Given the description of an element on the screen output the (x, y) to click on. 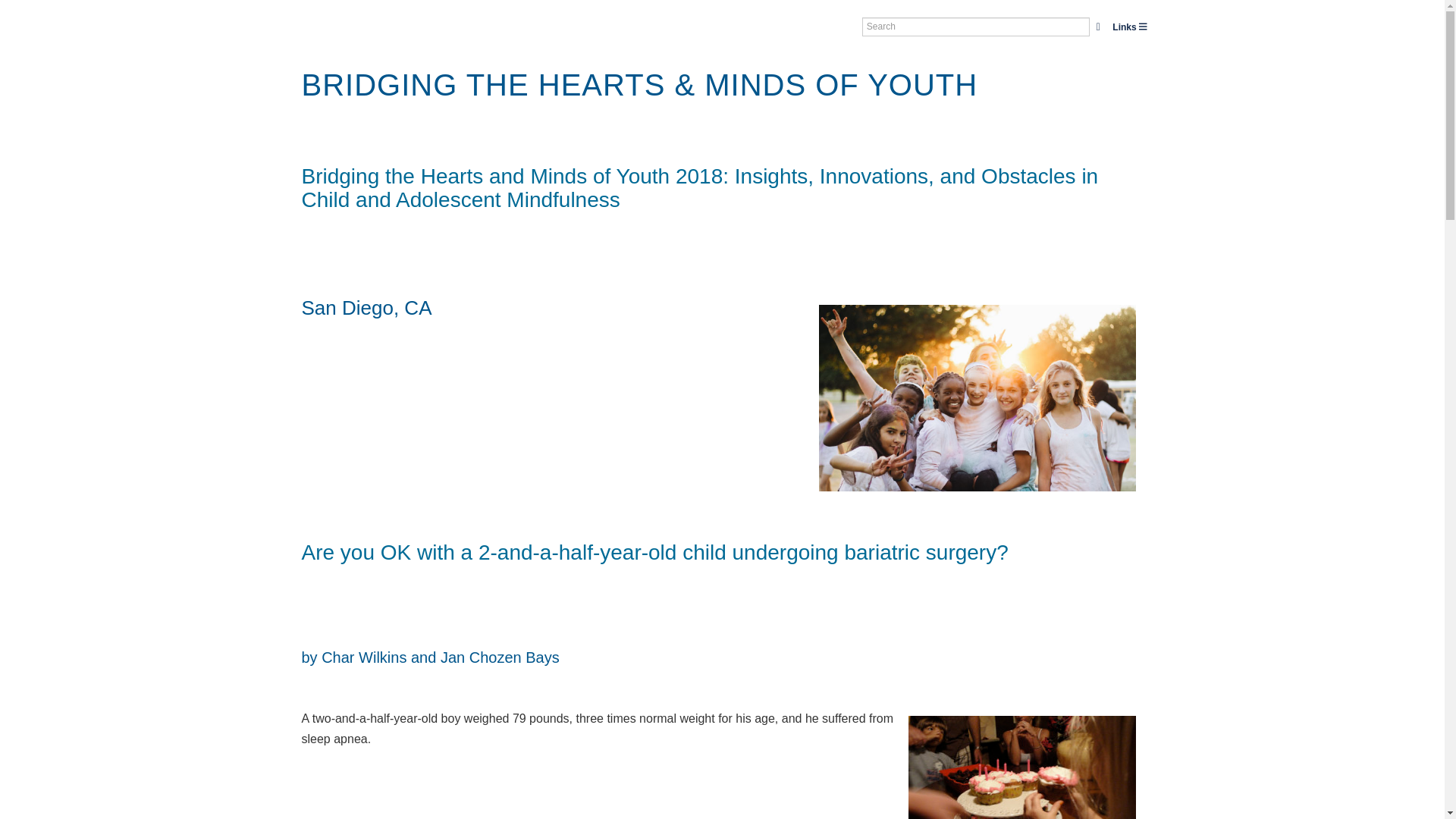
Search (1098, 26)
Links (1129, 27)
